Given the description of an element on the screen output the (x, y) to click on. 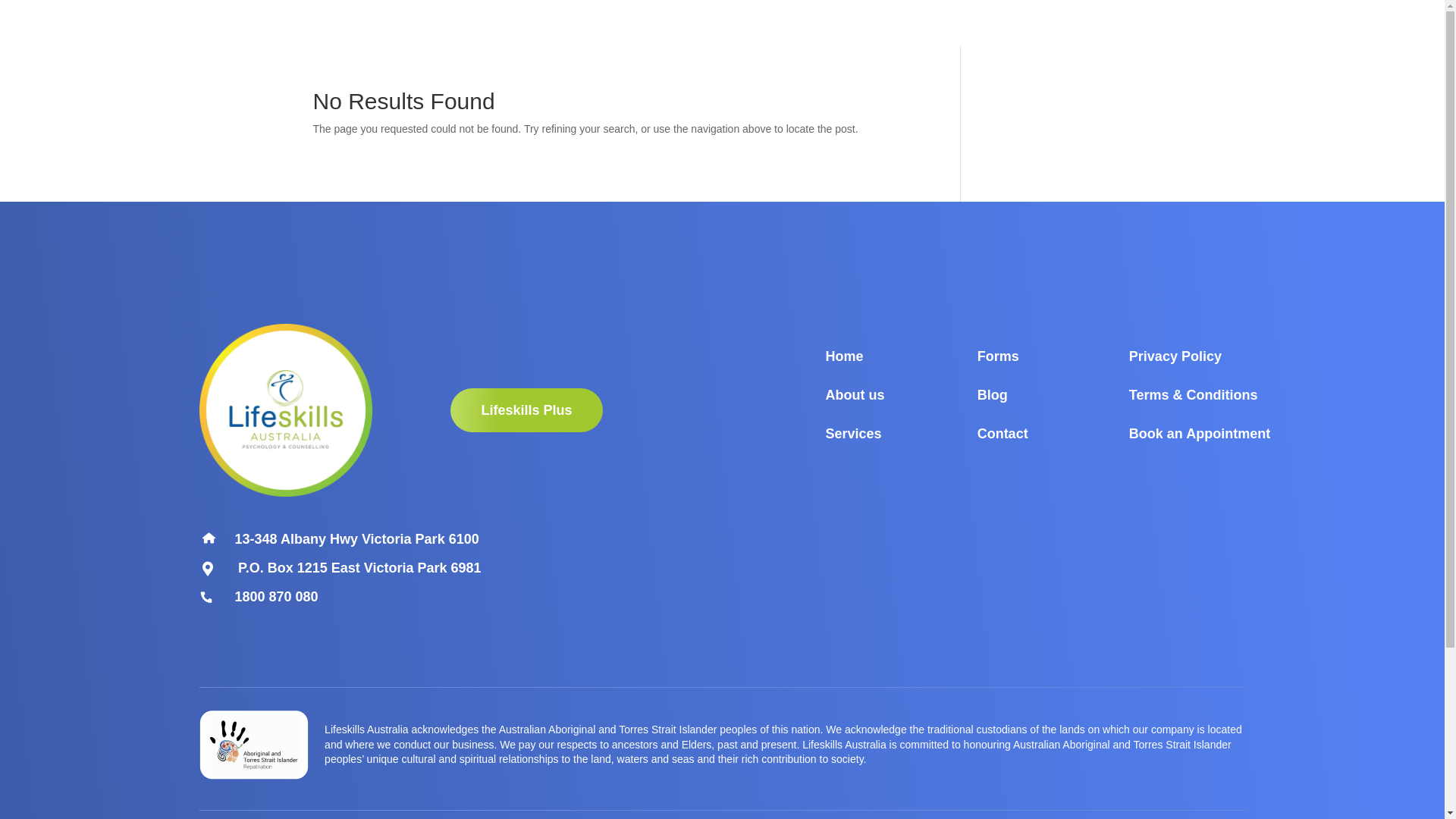
Book an Appointment Element type: text (1199, 433)
Home Element type: text (843, 356)
Lifeskills Plus Element type: text (526, 410)
13-348 Albany Hwy Victoria Park 6100 Element type: text (357, 538)
About us Element type: text (854, 394)
1800 870 080 Element type: text (276, 596)
Forms Element type: text (998, 356)
Privacy Policy Element type: text (1175, 356)
Terms & Conditions Element type: text (1193, 394)
Contact Element type: text (1002, 433)
Group 40 Element type: hover (252, 744)
Services Element type: text (853, 433)
Lifeskills_ Australia Element type: hover (284, 409)
Blog Element type: text (992, 394)
